Given the description of an element on the screen output the (x, y) to click on. 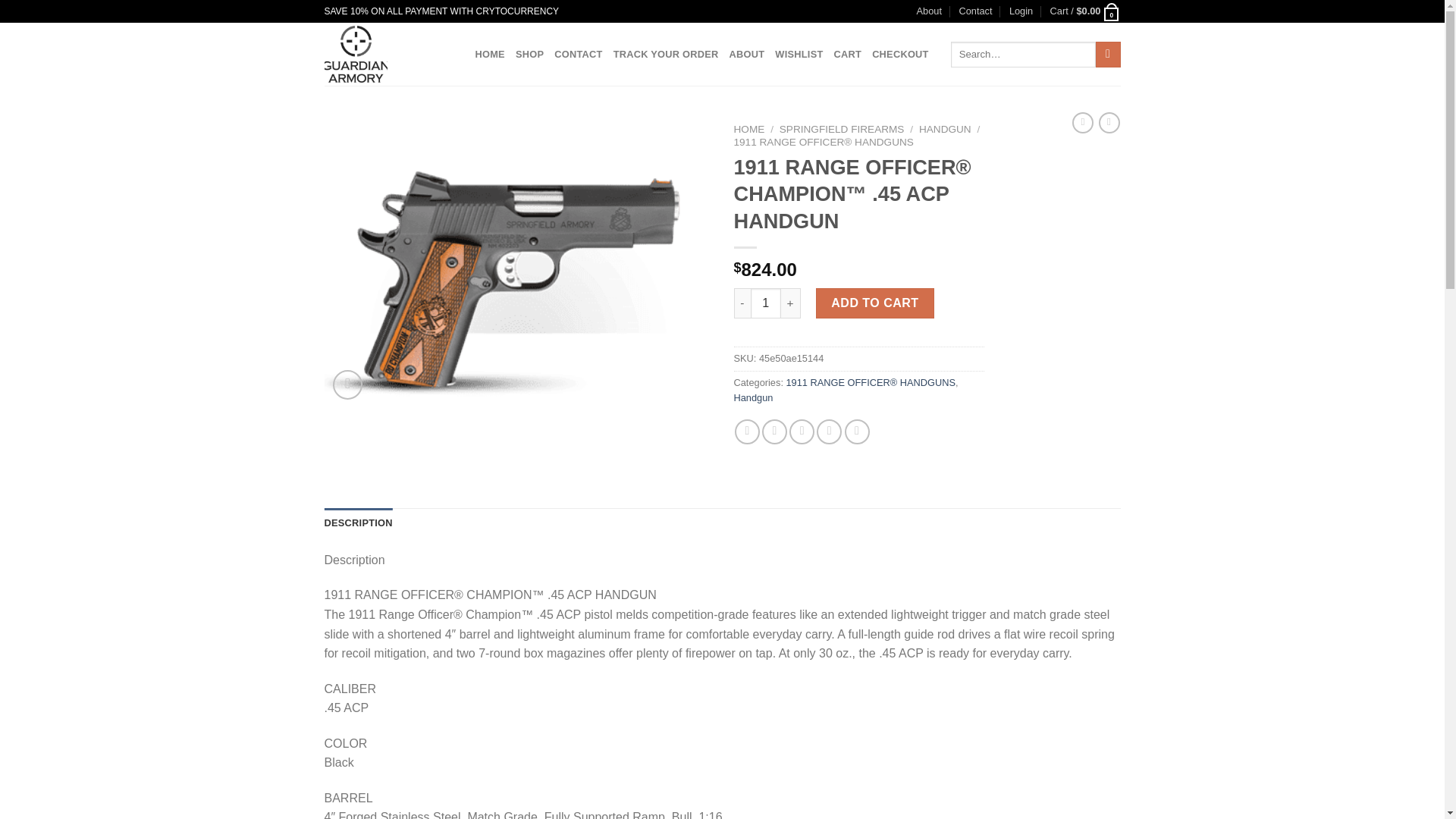
HANDGUN (944, 129)
1 (765, 303)
TRACK YOUR ORDER (665, 54)
ABOUT (747, 54)
CART (847, 54)
HOME (749, 129)
- (742, 303)
CHECKOUT (900, 54)
Contact (974, 11)
About (929, 11)
Buy Guardian Armory Shop (388, 53)
SHOP (529, 54)
CONTACT (578, 54)
WISHLIST (798, 54)
ADD TO CART (874, 303)
